Given the description of an element on the screen output the (x, y) to click on. 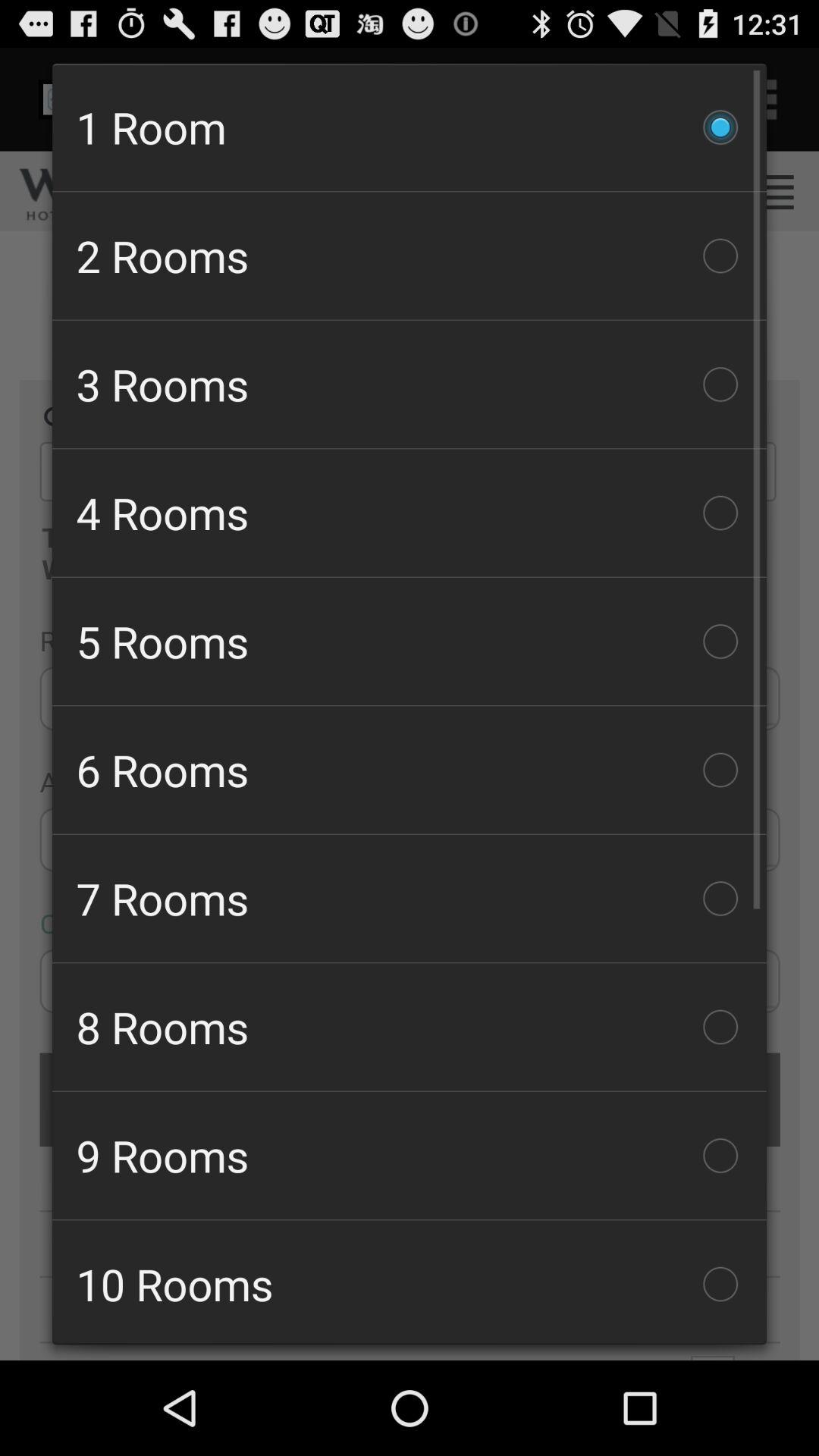
choose the 7 rooms (409, 898)
